Given the description of an element on the screen output the (x, y) to click on. 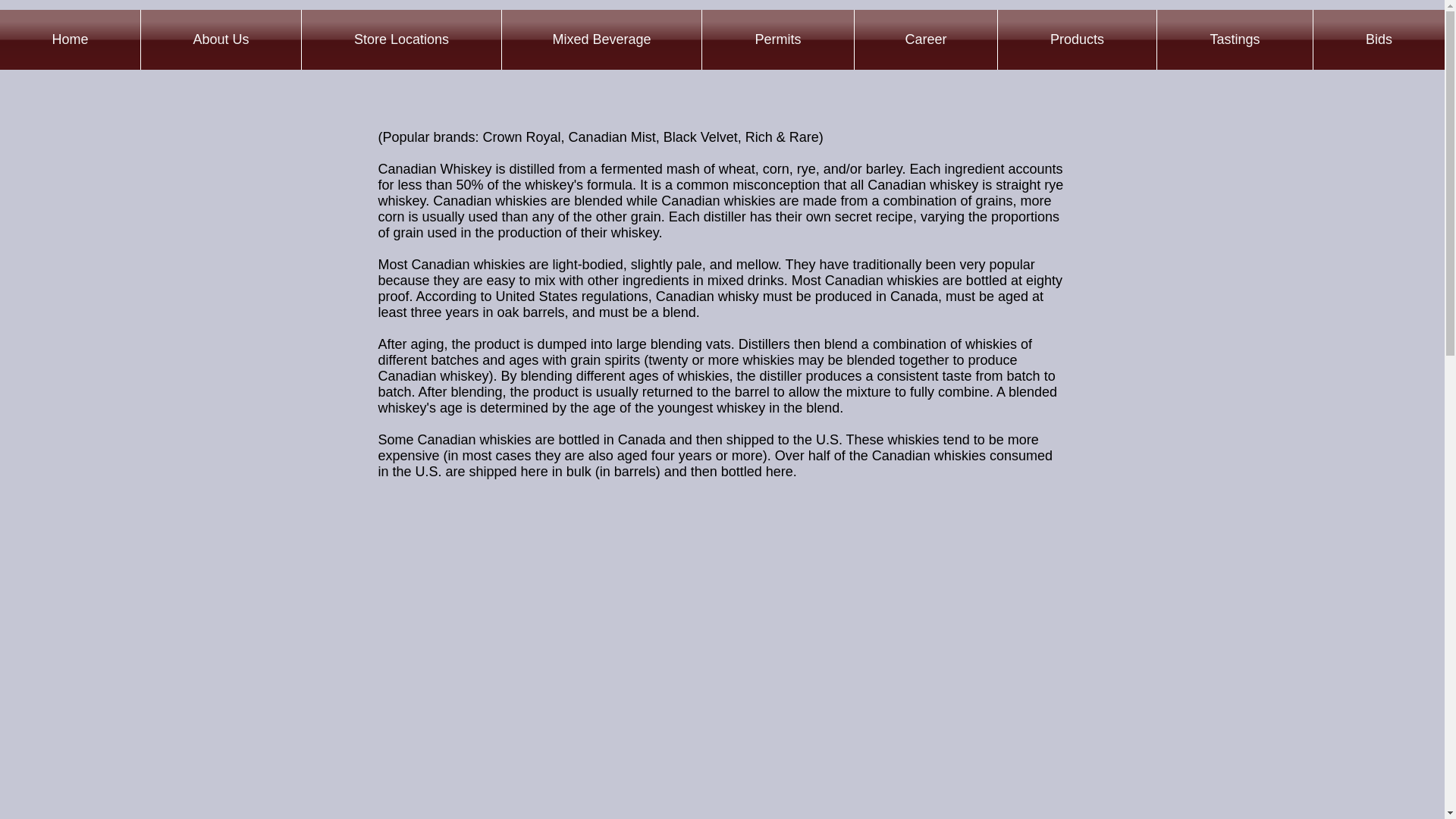
Products (1076, 39)
Career (925, 39)
About Us (221, 39)
Tastings (1235, 39)
Mixed Beverage (601, 39)
Store Locations (400, 39)
Home (69, 39)
Permits (777, 39)
